Given the description of an element on the screen output the (x, y) to click on. 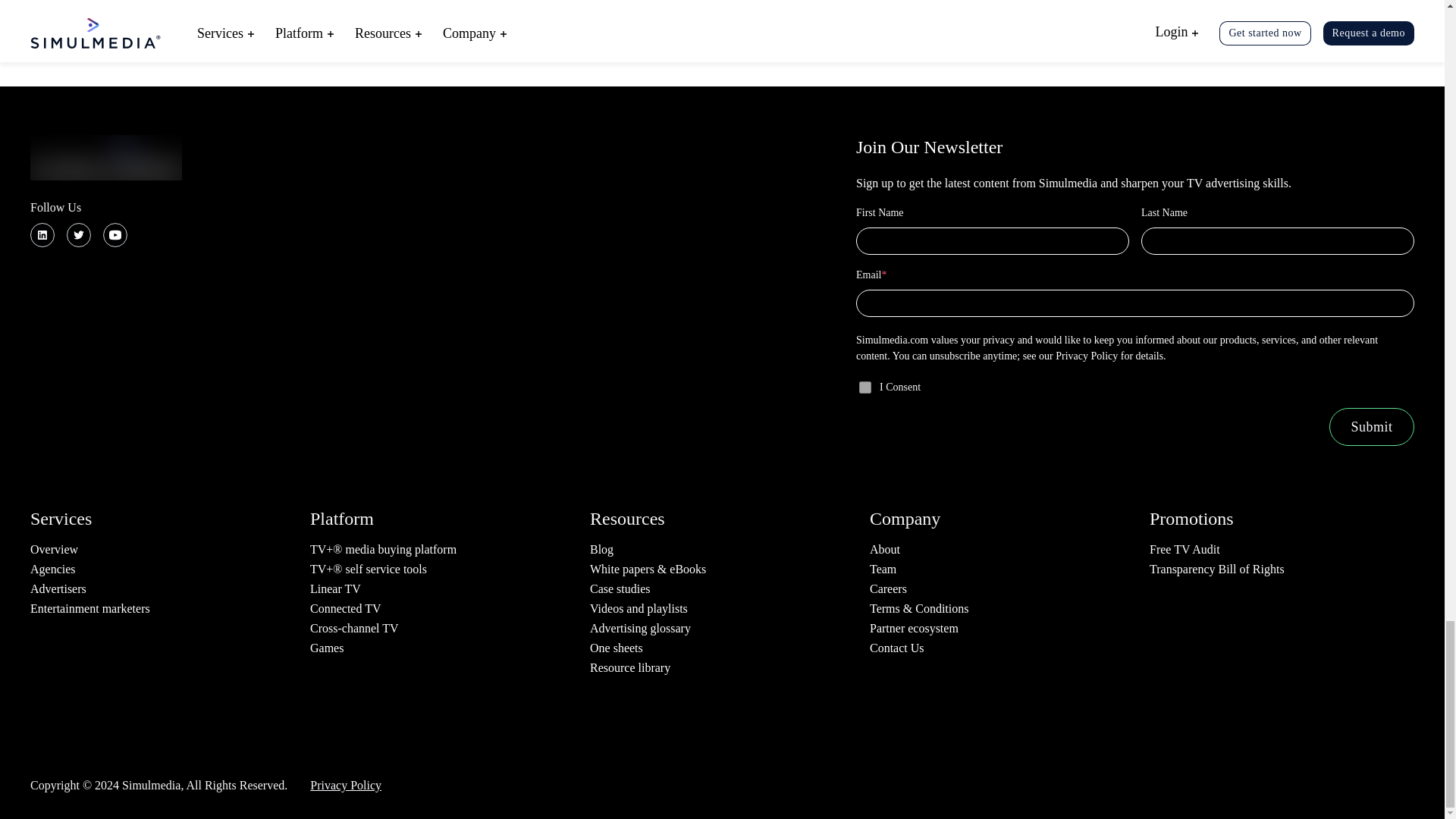
Submit (1371, 426)
true (864, 387)
